Given the description of an element on the screen output the (x, y) to click on. 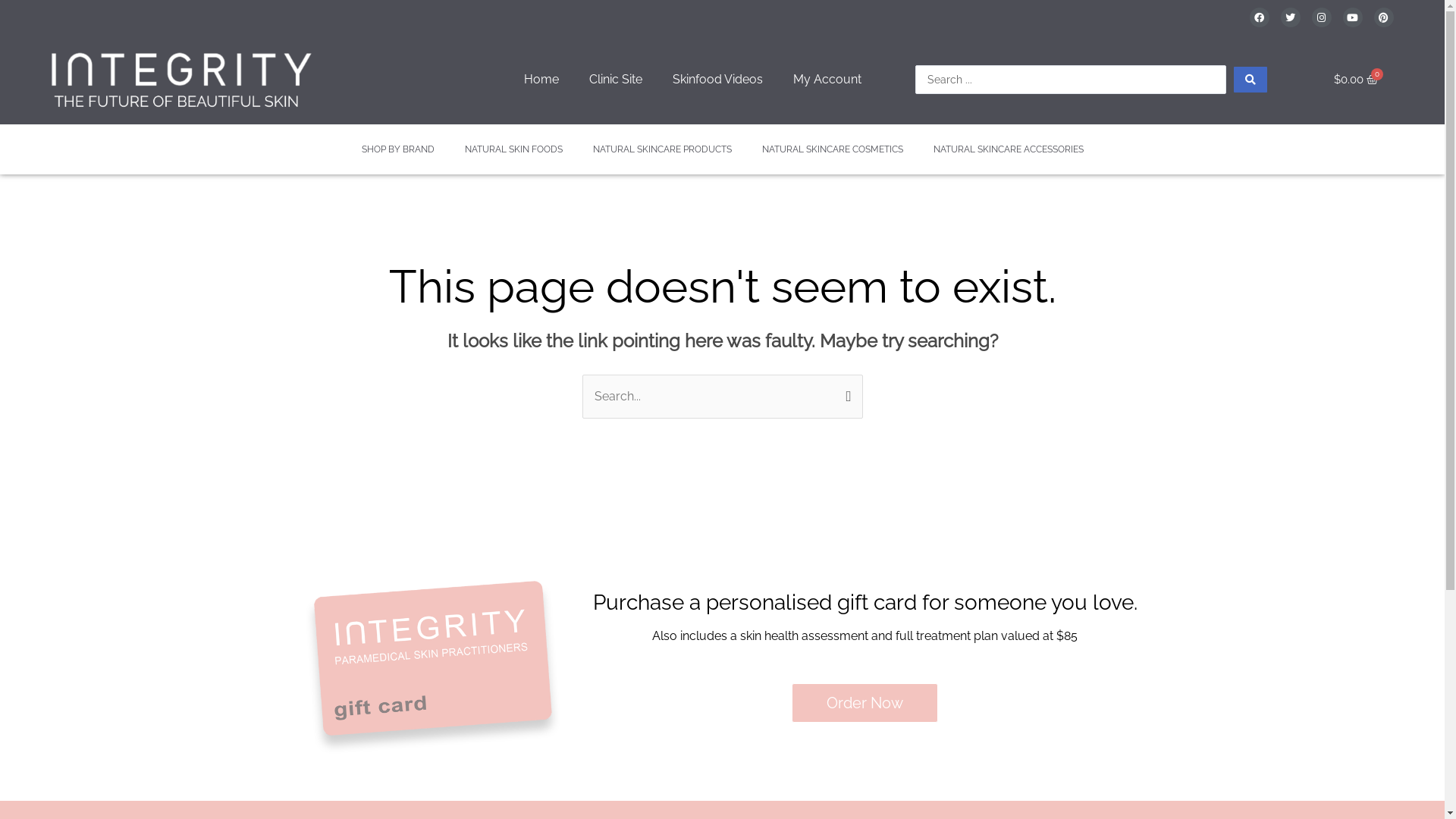
NATURAL SKIN FOODS Element type: text (512, 148)
Pinterest Element type: text (1383, 17)
Search Element type: text (845, 395)
Youtube Element type: text (1352, 17)
Twitter Element type: text (1290, 17)
Skinfood Videos Element type: text (716, 79)
Instagram Element type: text (1321, 17)
NATURAL SKINCARE COSMETICS Element type: text (831, 148)
$0.00
0
Cart Element type: text (1355, 79)
Facebook Element type: text (1259, 17)
My Account Element type: text (827, 79)
NATURAL SKINCARE PRODUCTS Element type: text (661, 148)
NATURAL SKINCARE ACCESSORIES Element type: text (1007, 148)
Order Now Element type: text (864, 702)
Home Element type: text (540, 79)
Clinic Site Element type: text (614, 79)
SHOP BY BRAND Element type: text (396, 148)
